Given the description of an element on the screen output the (x, y) to click on. 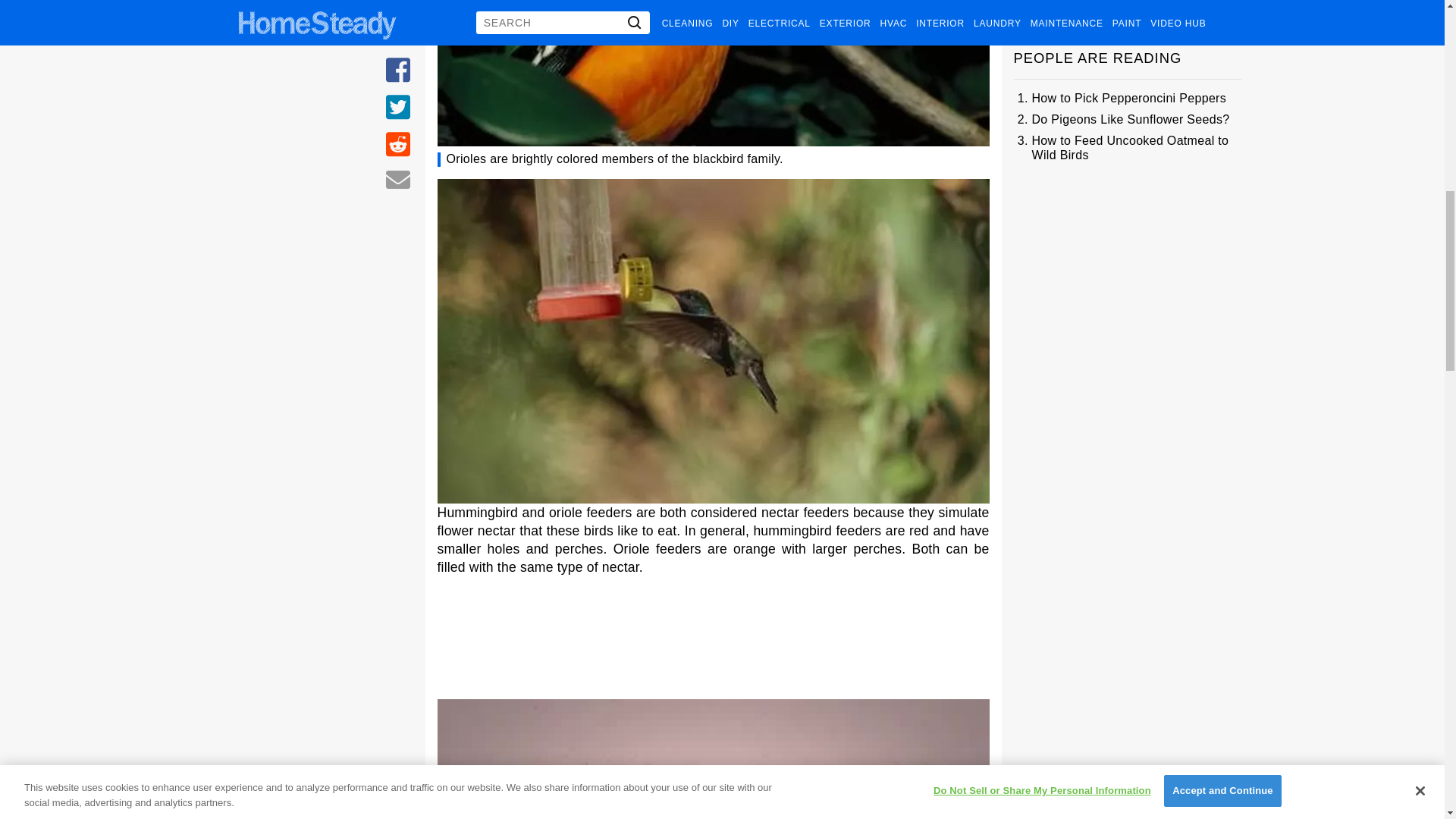
3rd party ad content (712, 640)
3rd party ad content (1126, 280)
